Given the description of an element on the screen output the (x, y) to click on. 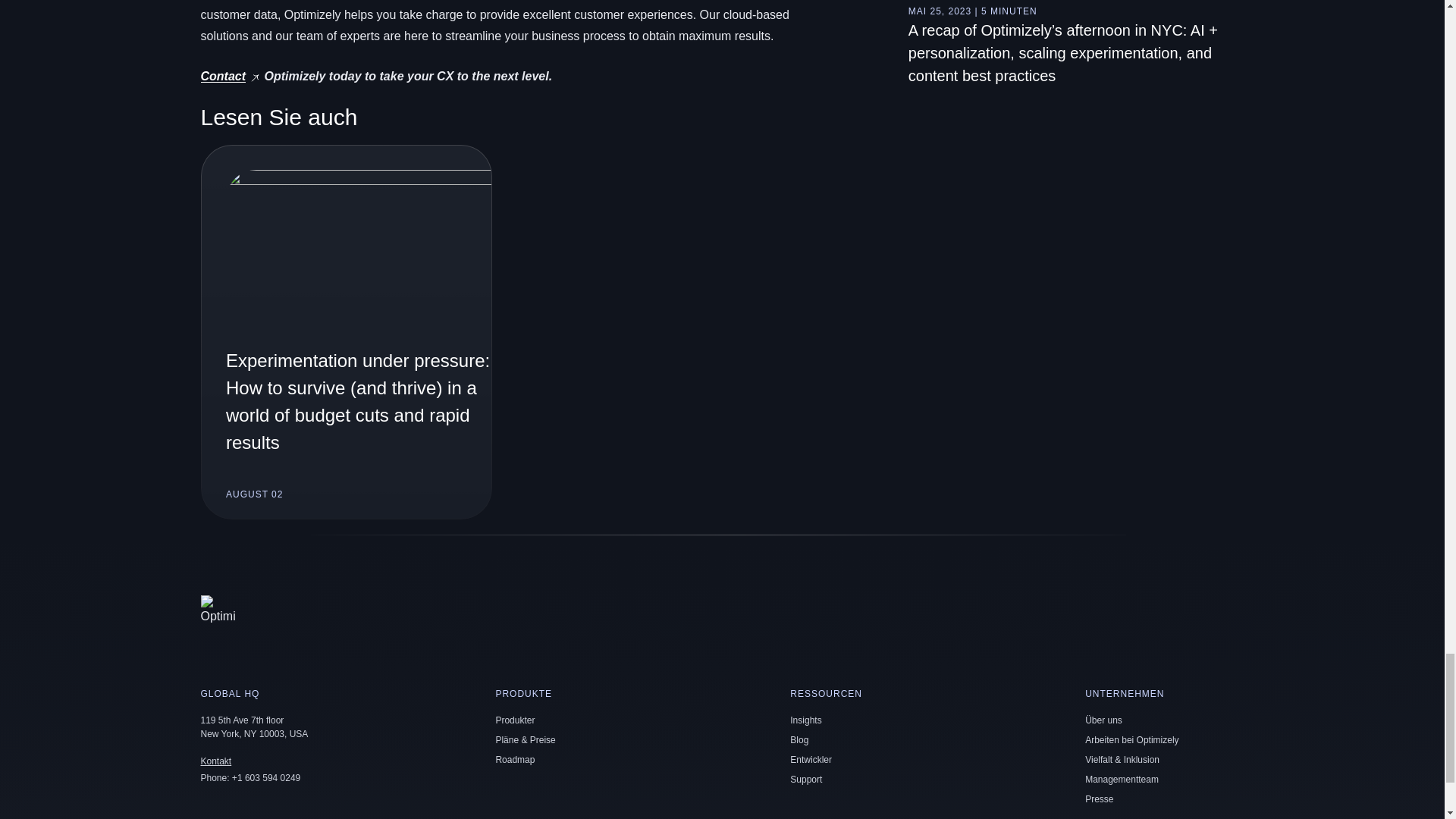
Managementteam (1121, 778)
Roadmap (514, 759)
Produkter (514, 719)
Support (806, 778)
Presse (1098, 798)
Blog (799, 739)
Entwickler (810, 759)
Kontakt (215, 761)
Insights (805, 719)
Contact (223, 75)
Kontakt (215, 761)
Arbeiten bei Optimizely (1130, 739)
